Given the description of an element on the screen output the (x, y) to click on. 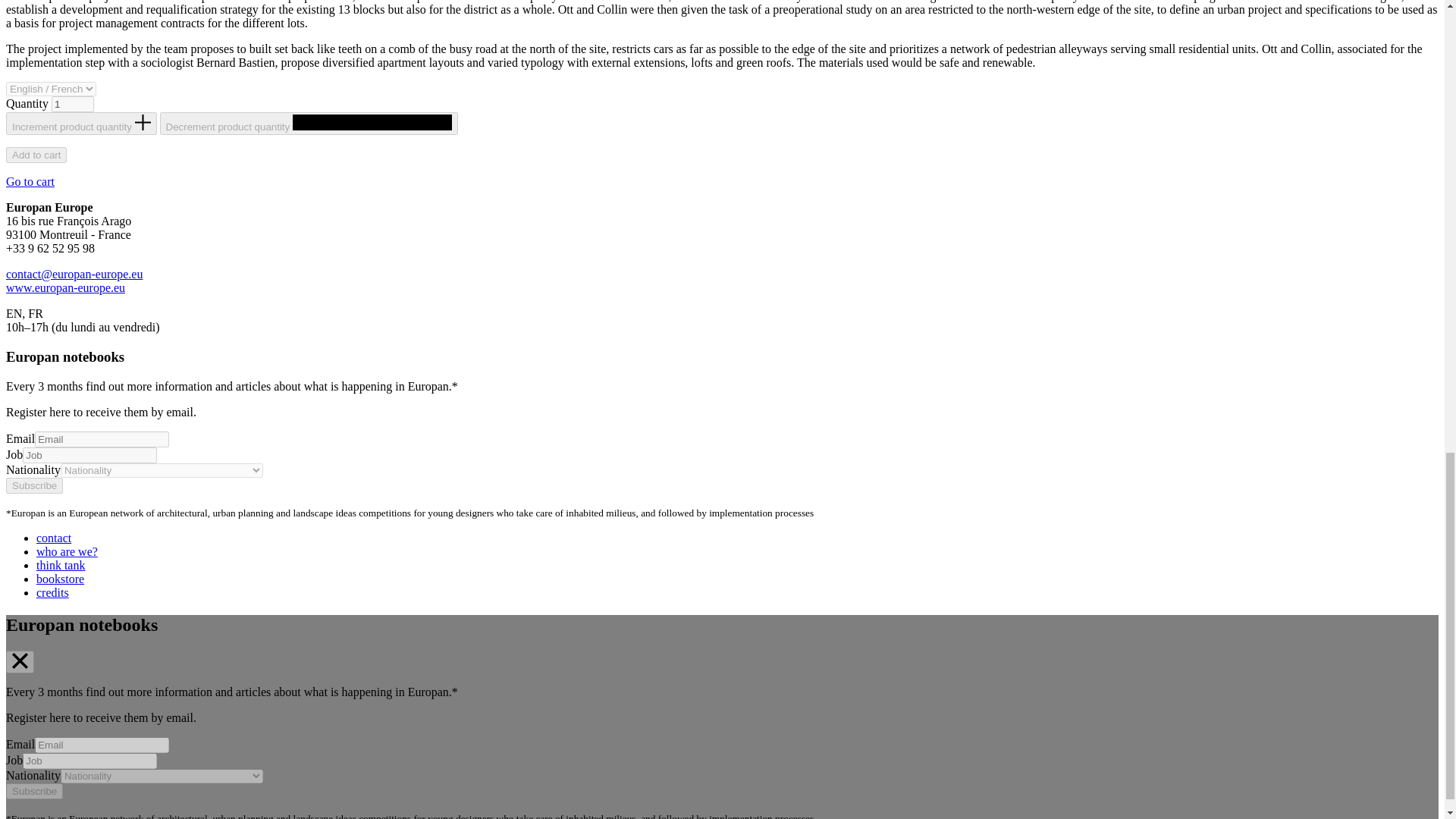
1 (72, 104)
Increment product quantity (81, 123)
Decrement product quantity (309, 123)
